Given the description of an element on the screen output the (x, y) to click on. 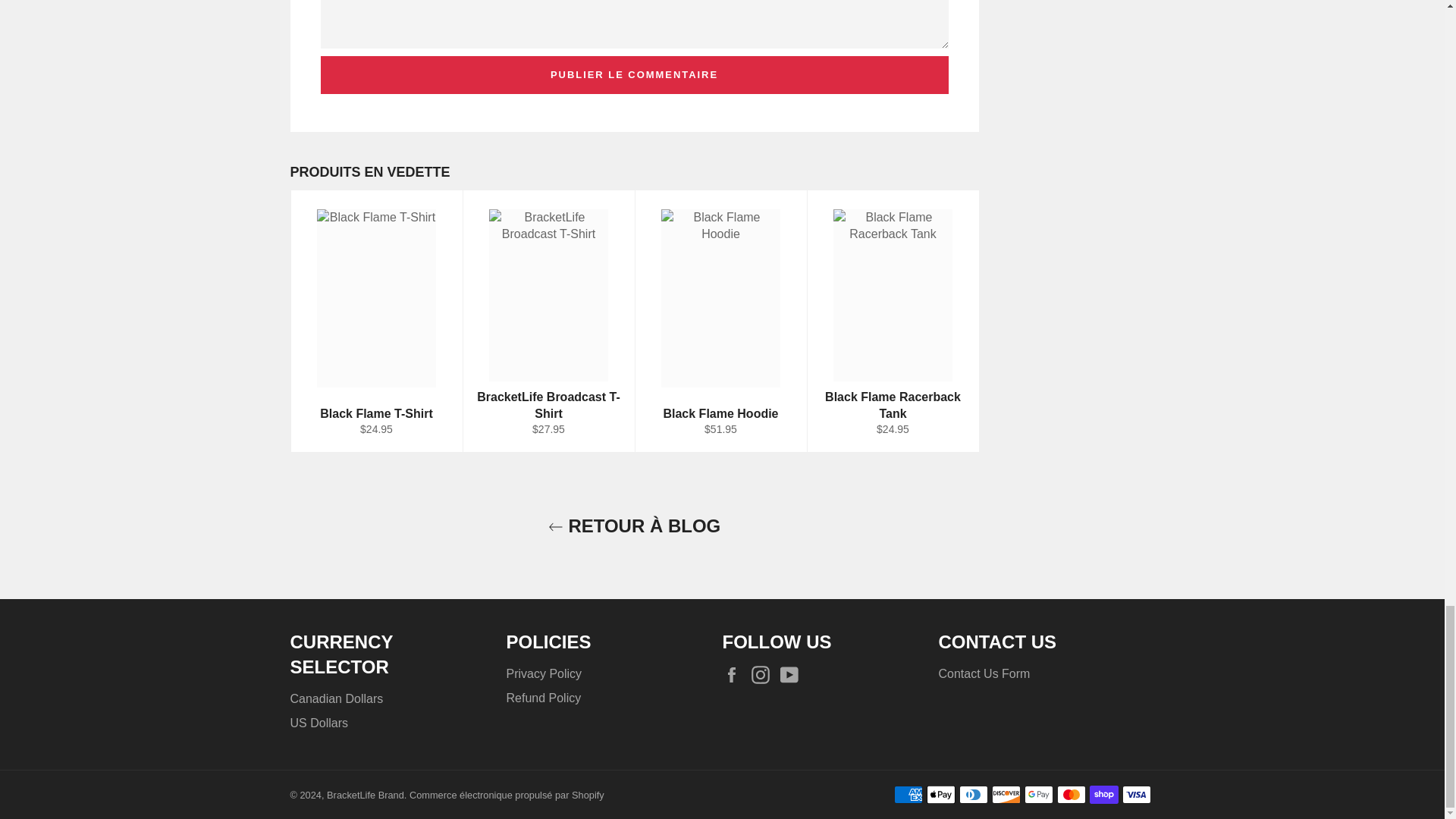
BracketLife Brand sur YouTube (793, 674)
BracketLife Brand sur Facebook (735, 674)
Publier le commentaire (633, 75)
BracketLife Brand sur Instagram (764, 674)
